Given the description of an element on the screen output the (x, y) to click on. 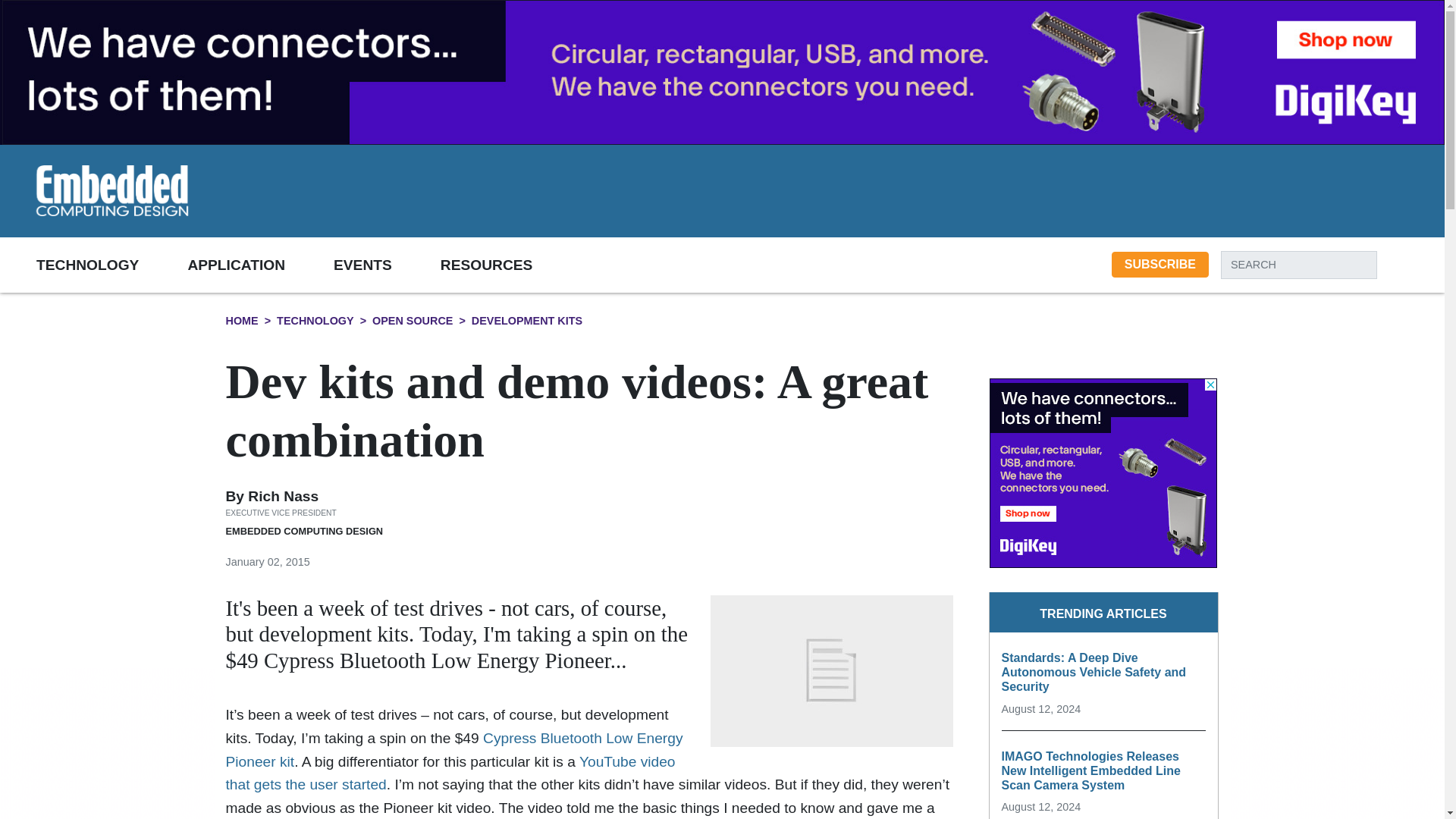
TECHNOLOGY (111, 264)
EVENTS (387, 264)
3rd party ad content (896, 190)
3rd party ad content (1103, 473)
RESOURCES (510, 264)
APPLICATION (260, 264)
